Given the description of an element on the screen output the (x, y) to click on. 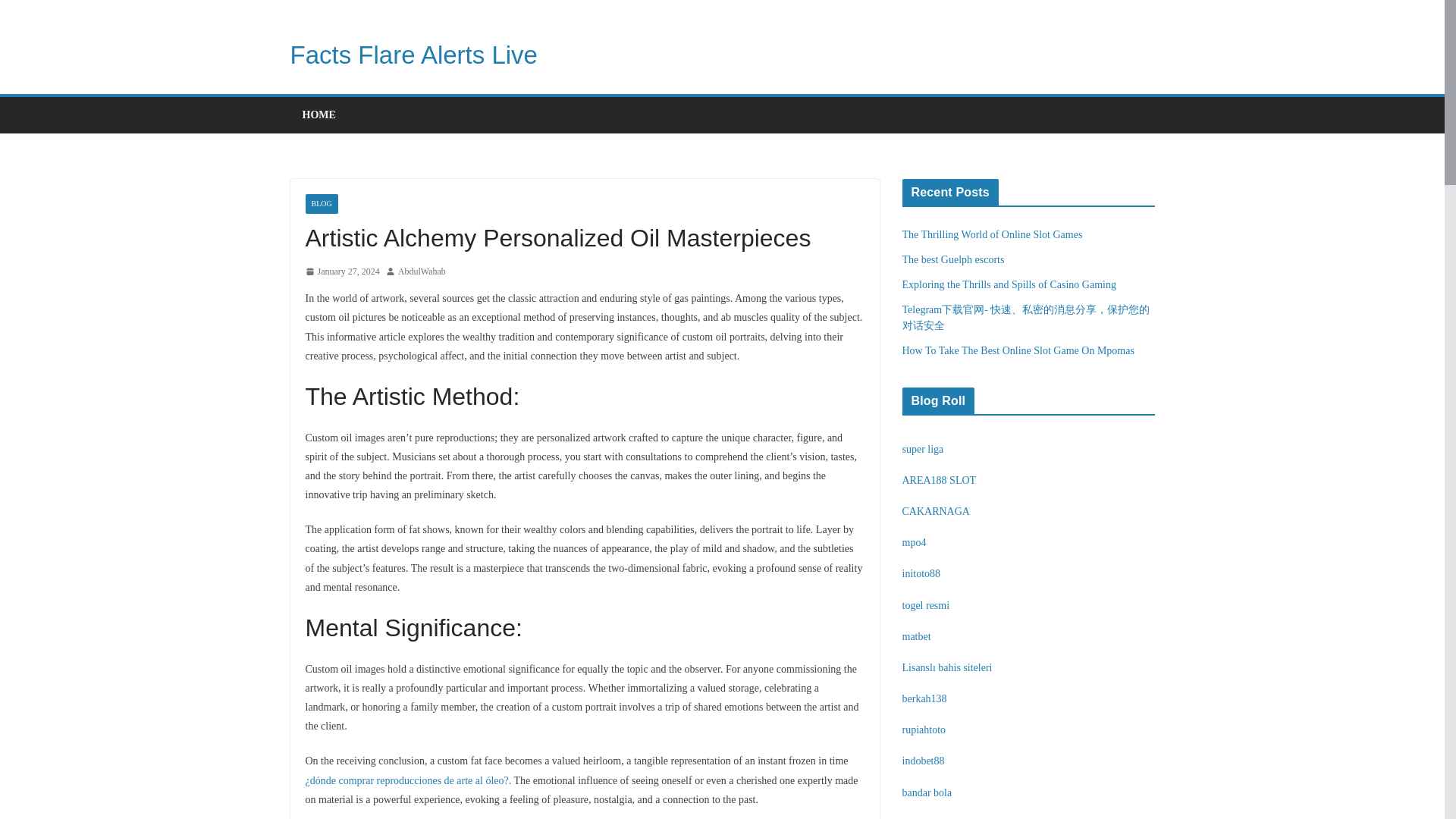
togel resmi (926, 604)
The Thrilling World of Online Slot Games (992, 234)
CAKARNAGA (935, 511)
bandar bola (927, 792)
How To Take The Best Online Slot Game On Mpomas (1018, 350)
January 27, 2024 (341, 271)
AbdulWahab (421, 271)
Ke dragon77 (930, 818)
AREA188 SLOT (939, 480)
initoto88 (921, 573)
BLOG (320, 203)
Exploring the Thrills and Spills of Casino Gaming (1009, 284)
The best Guelph escorts (953, 259)
berkah138 (924, 698)
9:54 am (341, 271)
